Given the description of an element on the screen output the (x, y) to click on. 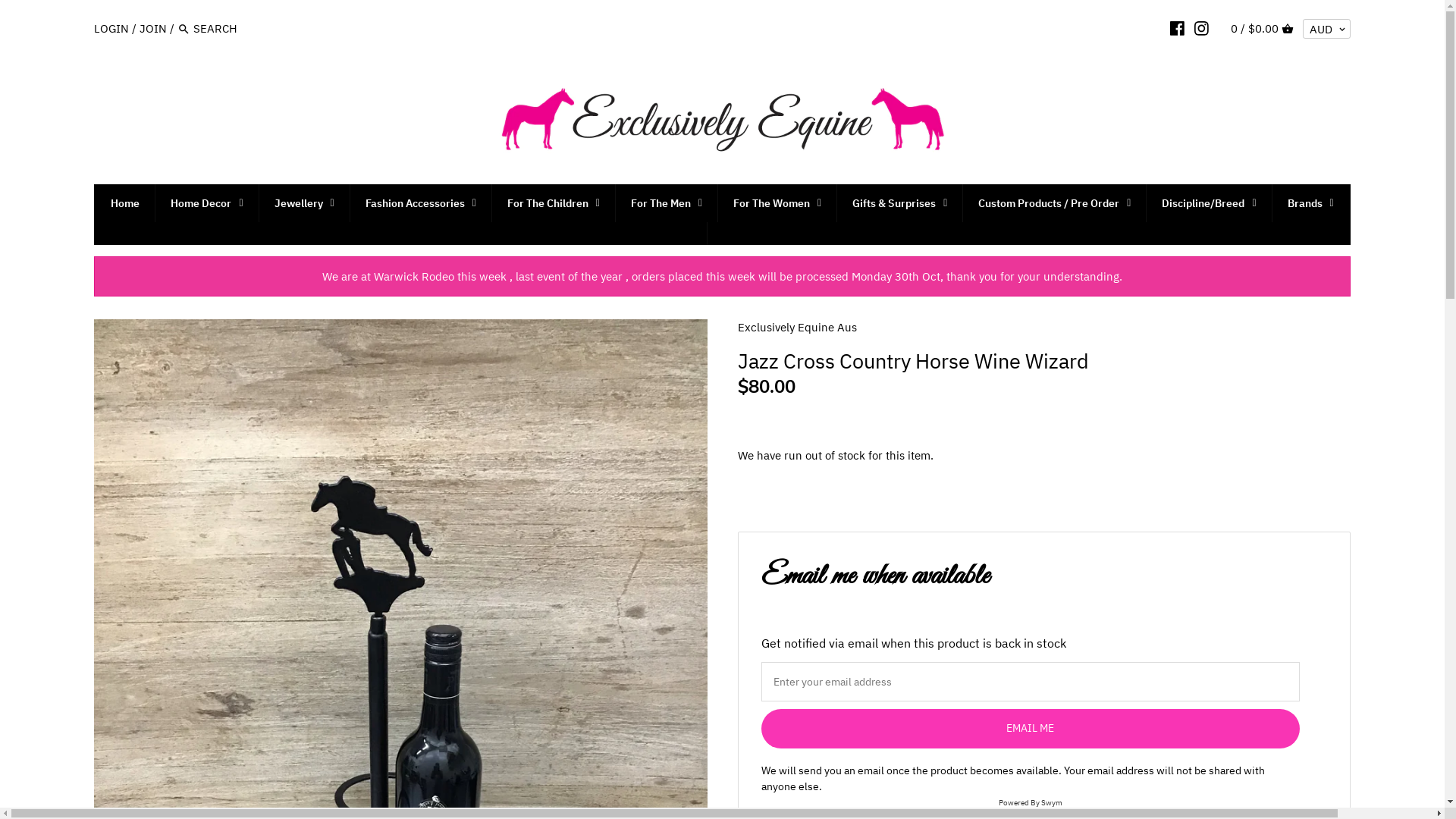
Home Element type: text (124, 202)
For The Children Element type: text (553, 202)
Exclusively Equine Aus Element type: text (796, 327)
Gifts & Surprises Element type: text (899, 202)
Custom Products / Pre Order Element type: text (1054, 202)
Jewellery Element type: text (304, 202)
Powered By Swym Element type: text (1029, 802)
For The Men Element type: text (666, 202)
Discipline/Breed Element type: text (1208, 202)
LOGIN Element type: text (111, 28)
Search Element type: text (183, 29)
Brands Element type: text (1310, 202)
For The Women Element type: text (777, 202)
EMAIL ME Element type: text (1030, 728)
0 / $0.00 CART Element type: text (1261, 28)
FACEBOOK Element type: text (1177, 27)
Home Decor Element type: text (206, 202)
INSTAGRAM Element type: text (1200, 27)
JOIN Element type: text (152, 28)
Fashion Accessories Element type: text (420, 202)
